Given the description of an element on the screen output the (x, y) to click on. 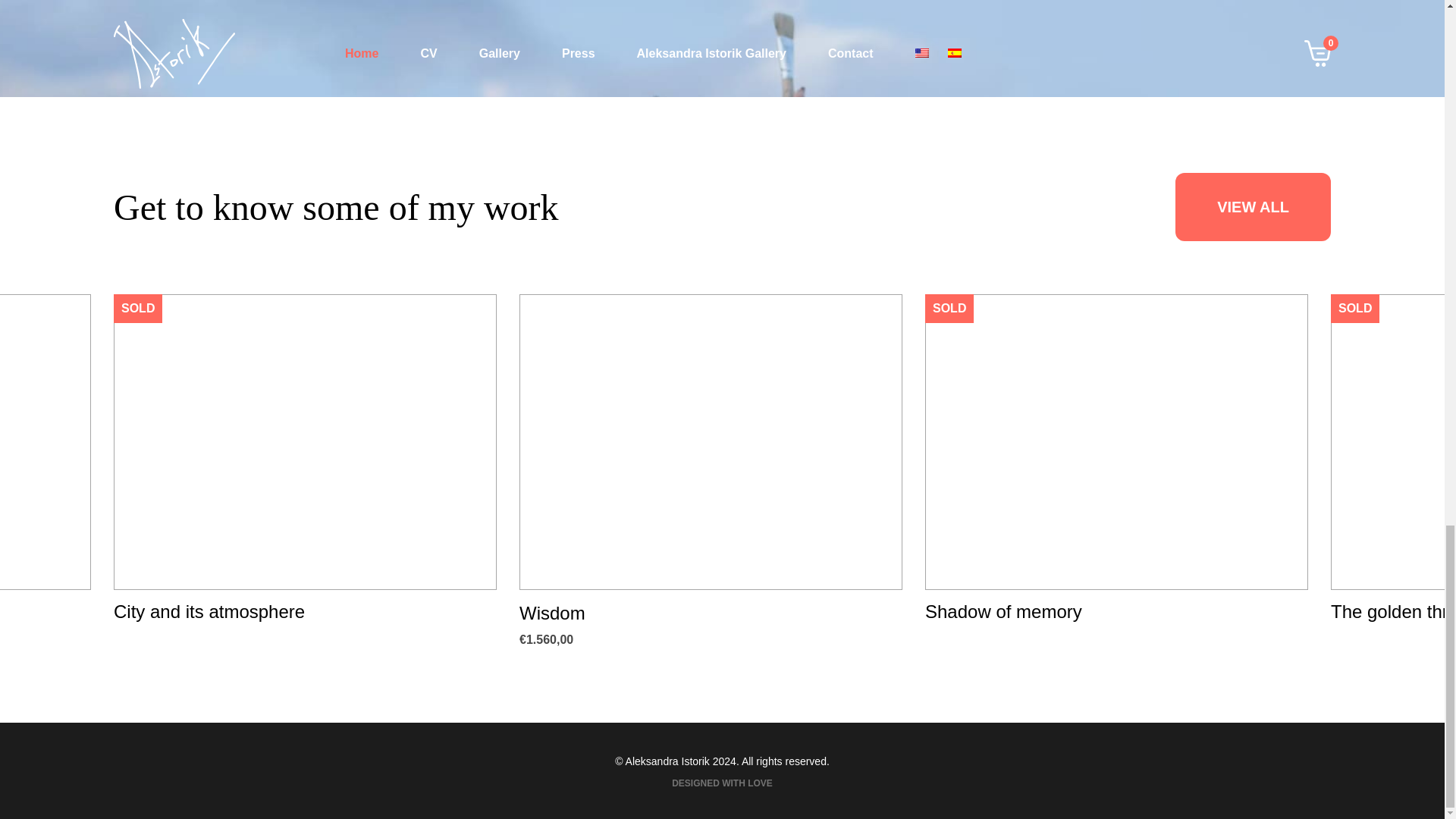
VIEW ALL (1252, 206)
